Given the description of an element on the screen output the (x, y) to click on. 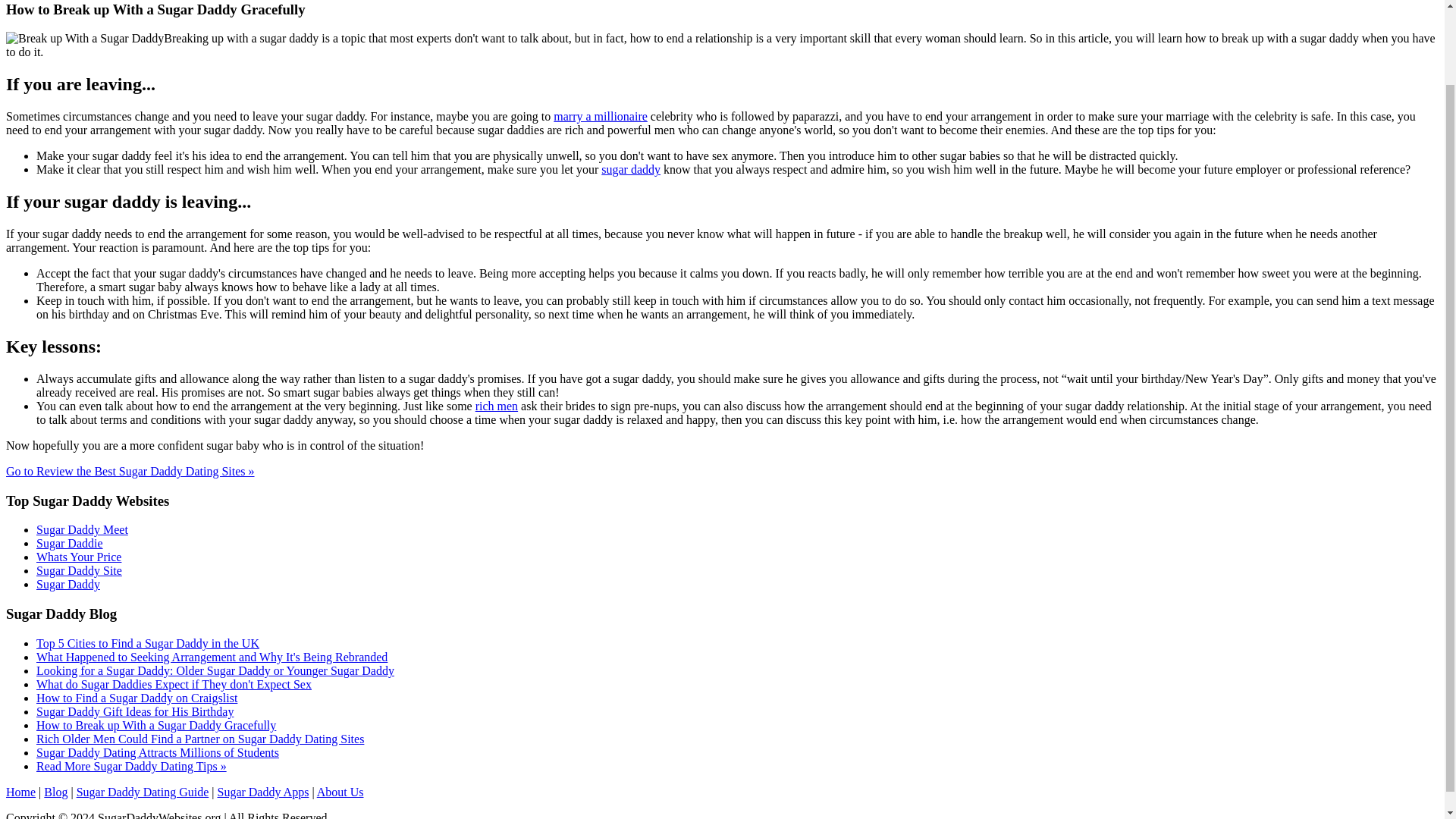
Sugar Daddy Apps (262, 791)
How to Break up With a Sugar Daddy Gracefully (156, 725)
Sugar Daddy Dating Guide (143, 791)
Top 5 Cities to Find a Sugar Daddy in the UK (147, 643)
Sugar Daddy Site (79, 570)
Home (19, 791)
Whats Your Price (78, 556)
Sugar Daddy Meet (82, 529)
What do Sugar Daddies Expect if They don't Expect Sex (173, 684)
Sugar Daddy (68, 584)
marry a millionaire (600, 115)
sugar daddy (631, 169)
Sugar Daddy Websites (19, 791)
